Given the description of an element on the screen output the (x, y) to click on. 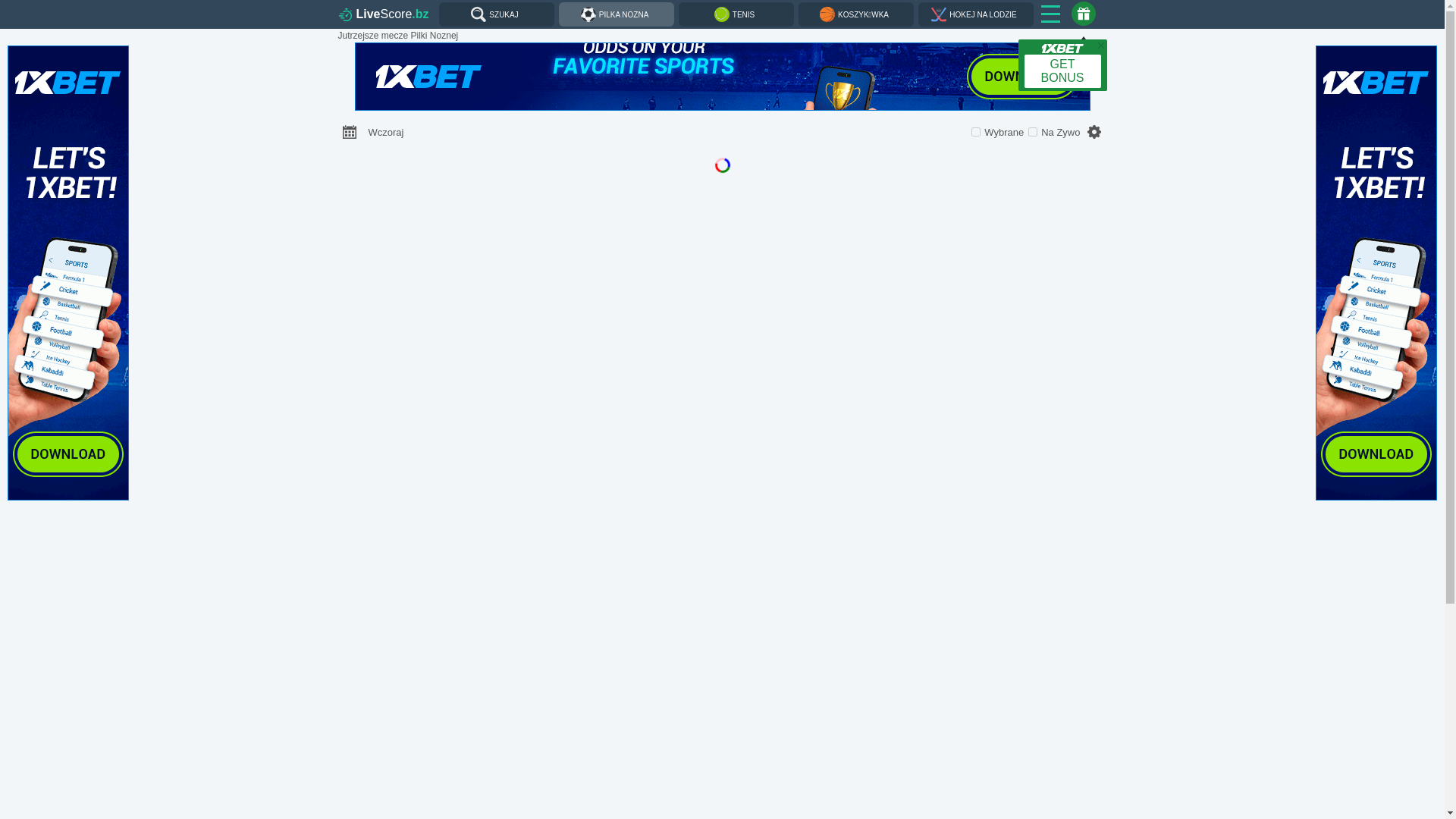
PILKA NOZNA Element type: text (616, 14)
GET BONUS Element type: text (1061, 64)
HOKEJ NA LODZIE Element type: text (975, 14)
Click! Element type: hover (67, 274)
Click! Element type: hover (1376, 274)
TENIS Element type: text (735, 14)
Wczoraj Element type: text (386, 131)
Live
Score
.bz Element type: text (384, 14)
Click! Element type: hover (721, 77)
